Given the description of an element on the screen output the (x, y) to click on. 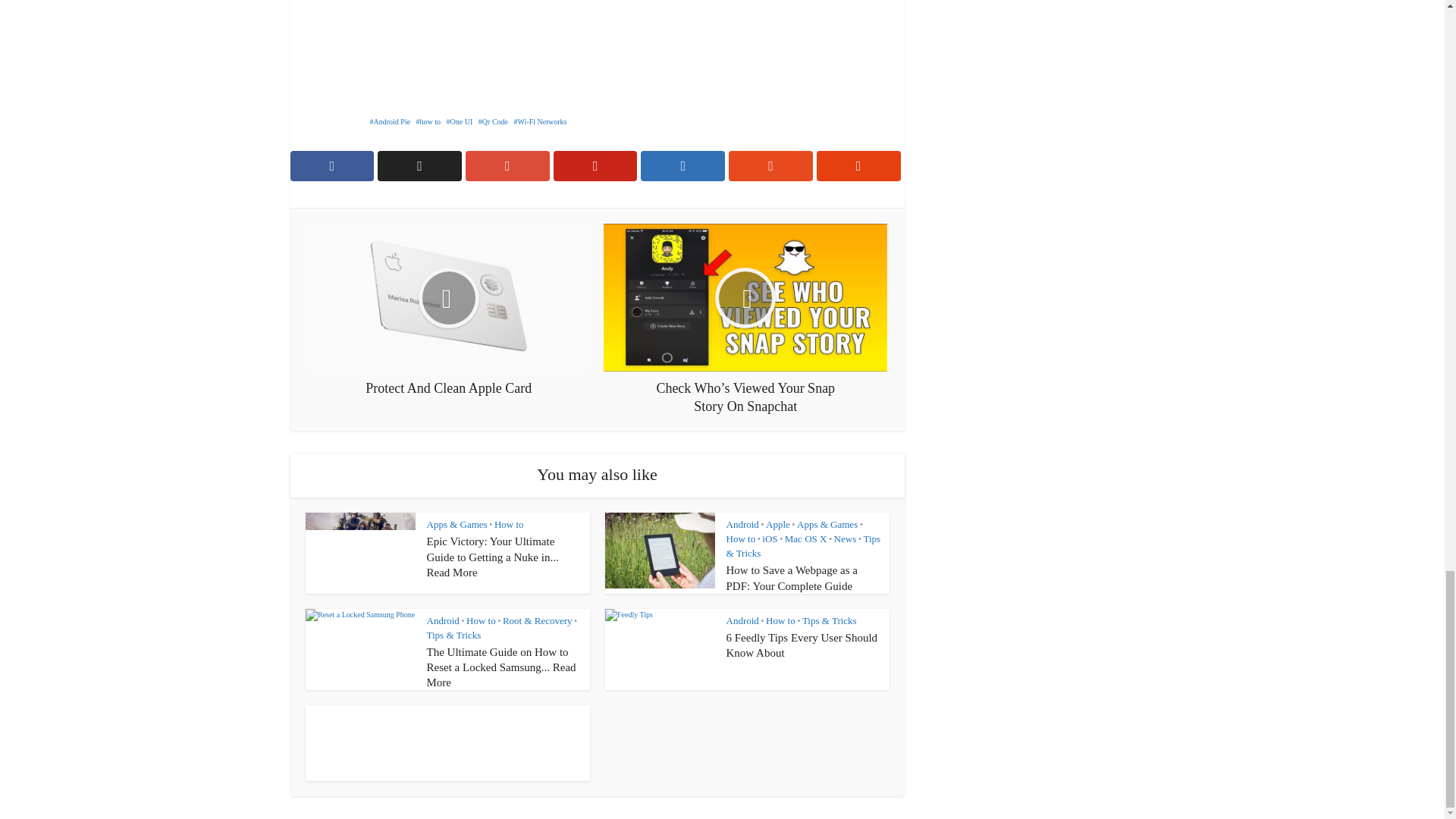
How to Save a Webpage as a PDF: Your Complete Guide (791, 577)
6 Feedly Tips Every User Should Know About (801, 645)
The Ultimate Guide on How to Reset a Locked Samsung Phone (500, 667)
